Given the description of an element on the screen output the (x, y) to click on. 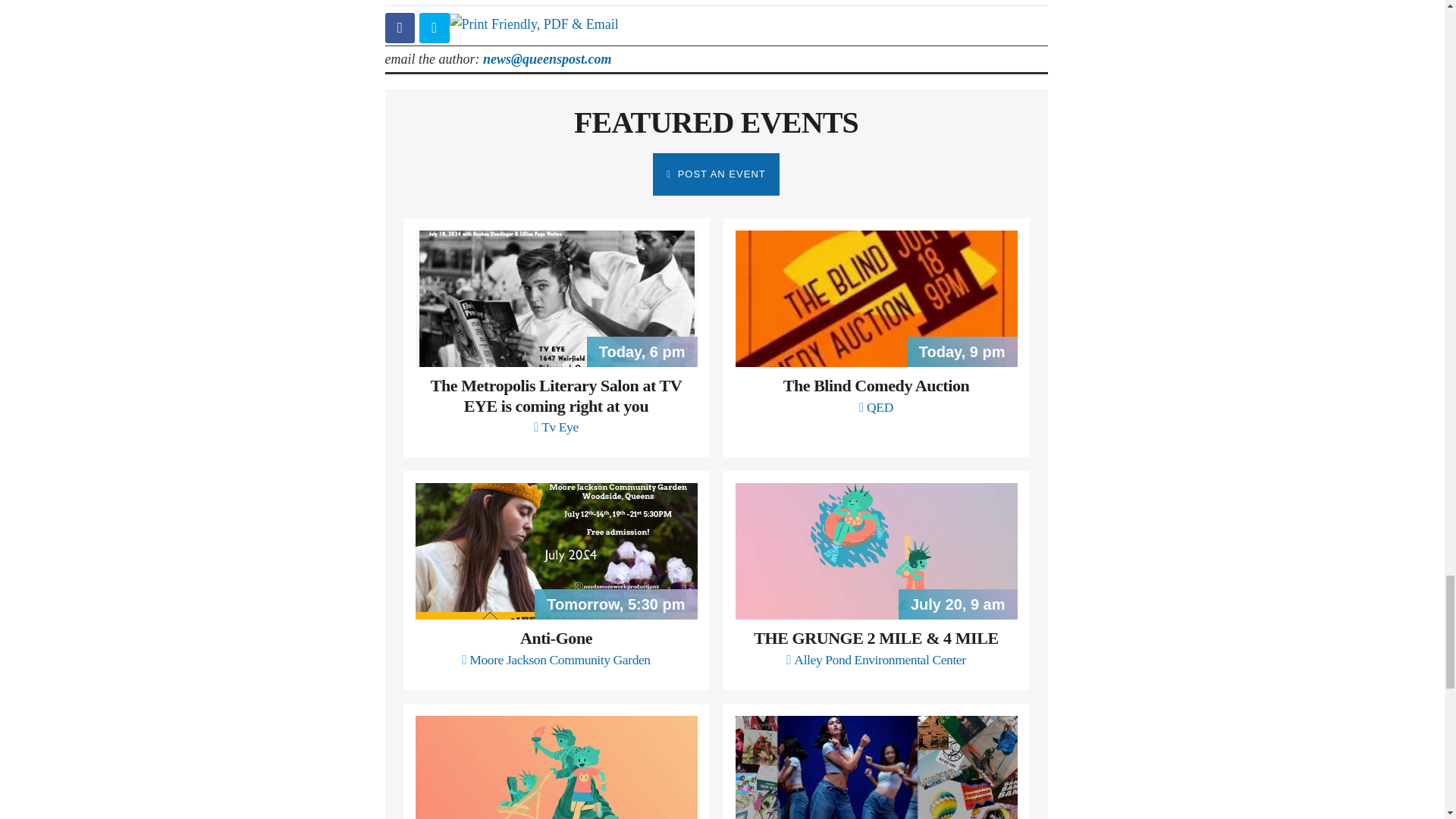
FEATURED EVENTS (716, 122)
POST AN EVENT (715, 174)
